Given the description of an element on the screen output the (x, y) to click on. 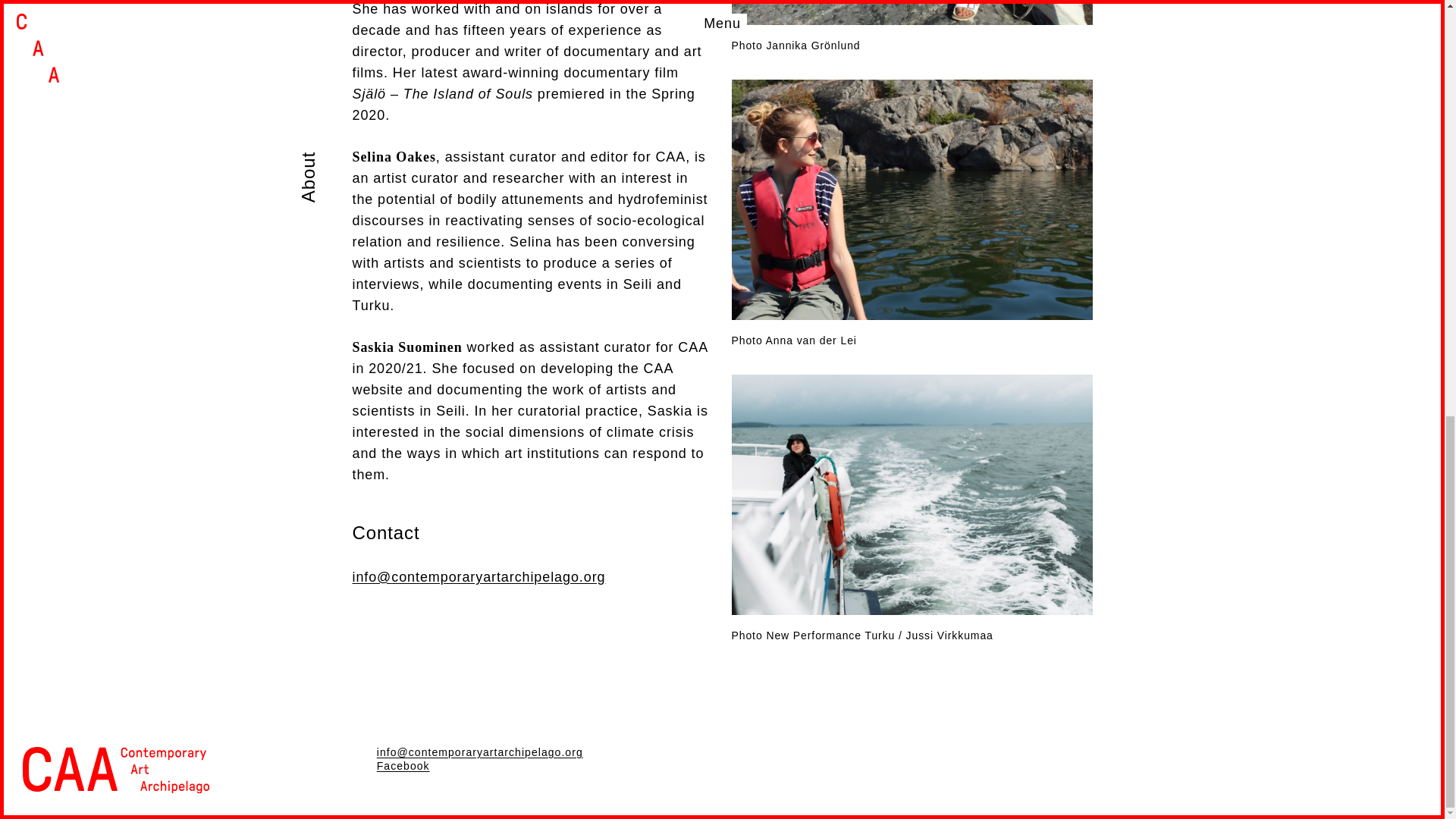
Facebook (403, 766)
Photo Anna van der Lei (911, 213)
Photo Anna van der Lei (911, 213)
